Given the description of an element on the screen output the (x, y) to click on. 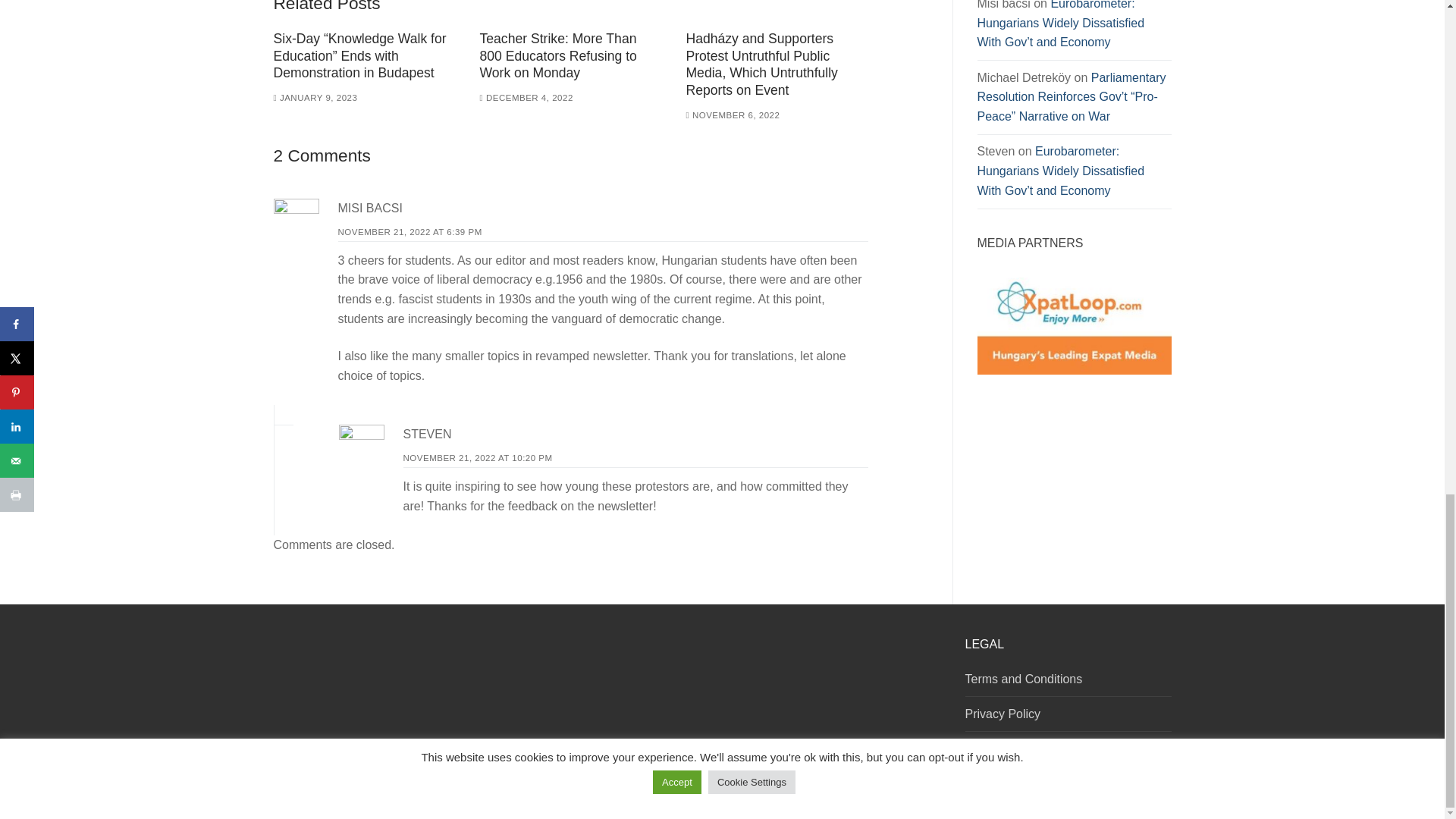
Twitter (915, 791)
DECEMBER 4, 2022 (525, 97)
Facebook (896, 791)
JANUARY 9, 2023 (314, 97)
NOVEMBER 6, 2022 (731, 114)
Youtube (932, 791)
